Given the description of an element on the screen output the (x, y) to click on. 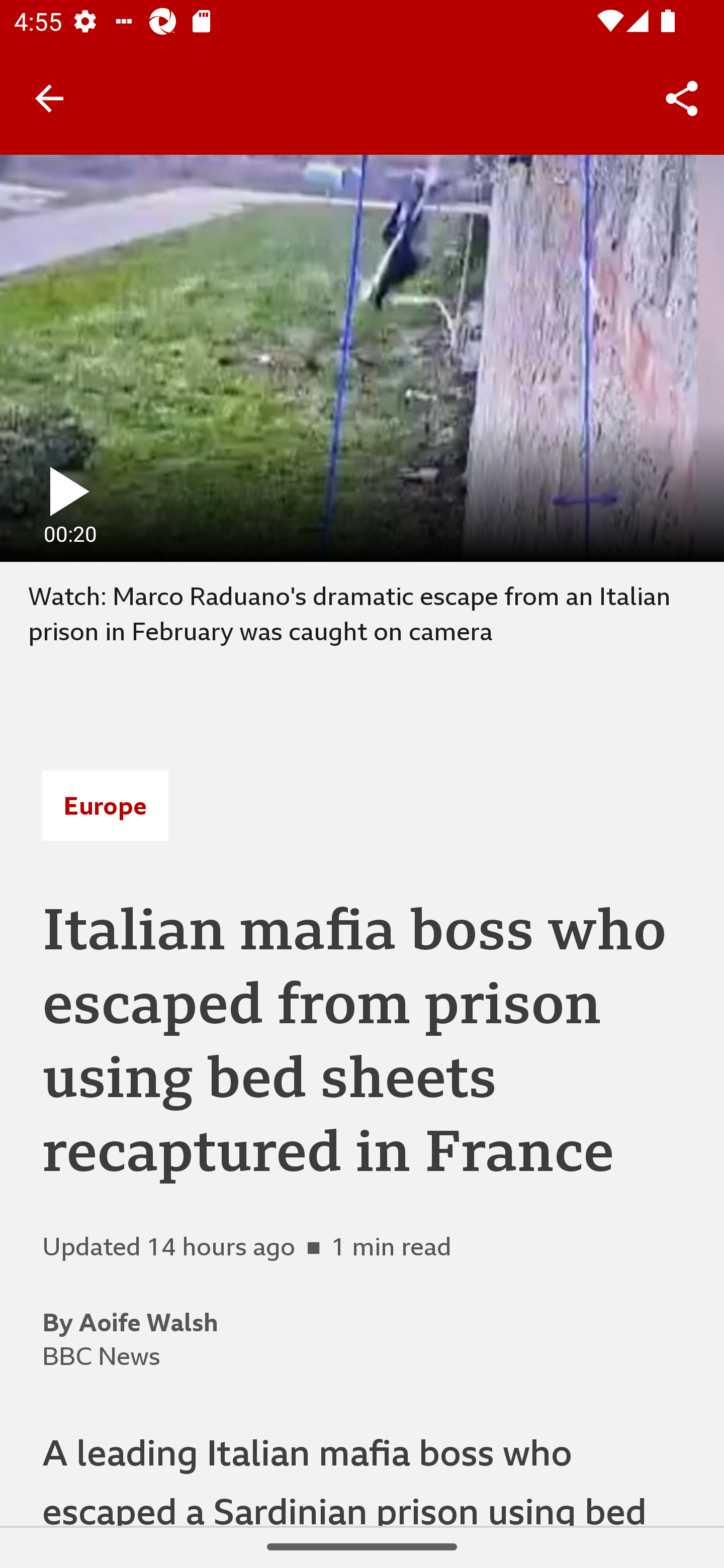
Back (49, 97)
Share (681, 98)
play fullscreen 00:20 0 minutes, 20 seconds (362, 358)
Europe (104, 805)
